Given the description of an element on the screen output the (x, y) to click on. 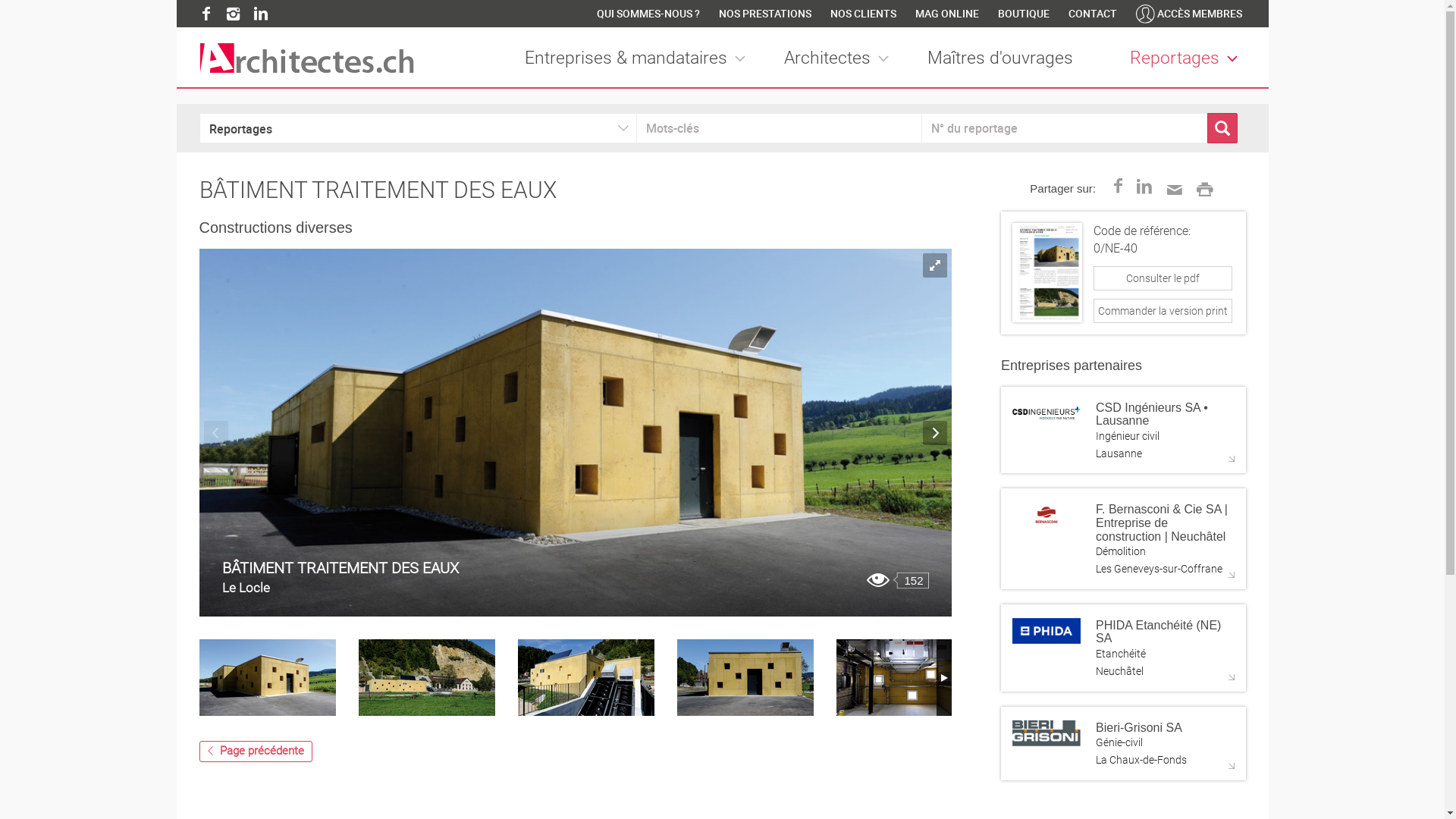
Instagram Element type: hover (233, 13)
NOS PRESTATIONS Element type: text (764, 13)
Facebook Element type: hover (205, 13)
Commander la version print Element type: text (1162, 310)
MAG ONLINE Element type: text (946, 13)
Entreprises & mandataires Element type: text (638, 58)
NOS CLIENTS Element type: text (862, 13)
BOUTIQUE Element type: text (1023, 13)
Email Element type: hover (1172, 187)
Imprimer Element type: hover (1202, 187)
QUI SOMMES-NOUS ? Element type: text (647, 13)
Reportages Element type: text (1187, 58)
Linkdin Element type: hover (1144, 187)
Linkedin Element type: hover (260, 13)
Facebook Element type: hover (1117, 187)
Consulter le pdf Element type: text (1162, 290)
CONTACT Element type: text (1091, 13)
Accueil Element type: hover (305, 57)
Architectes Element type: text (840, 58)
